Given the description of an element on the screen output the (x, y) to click on. 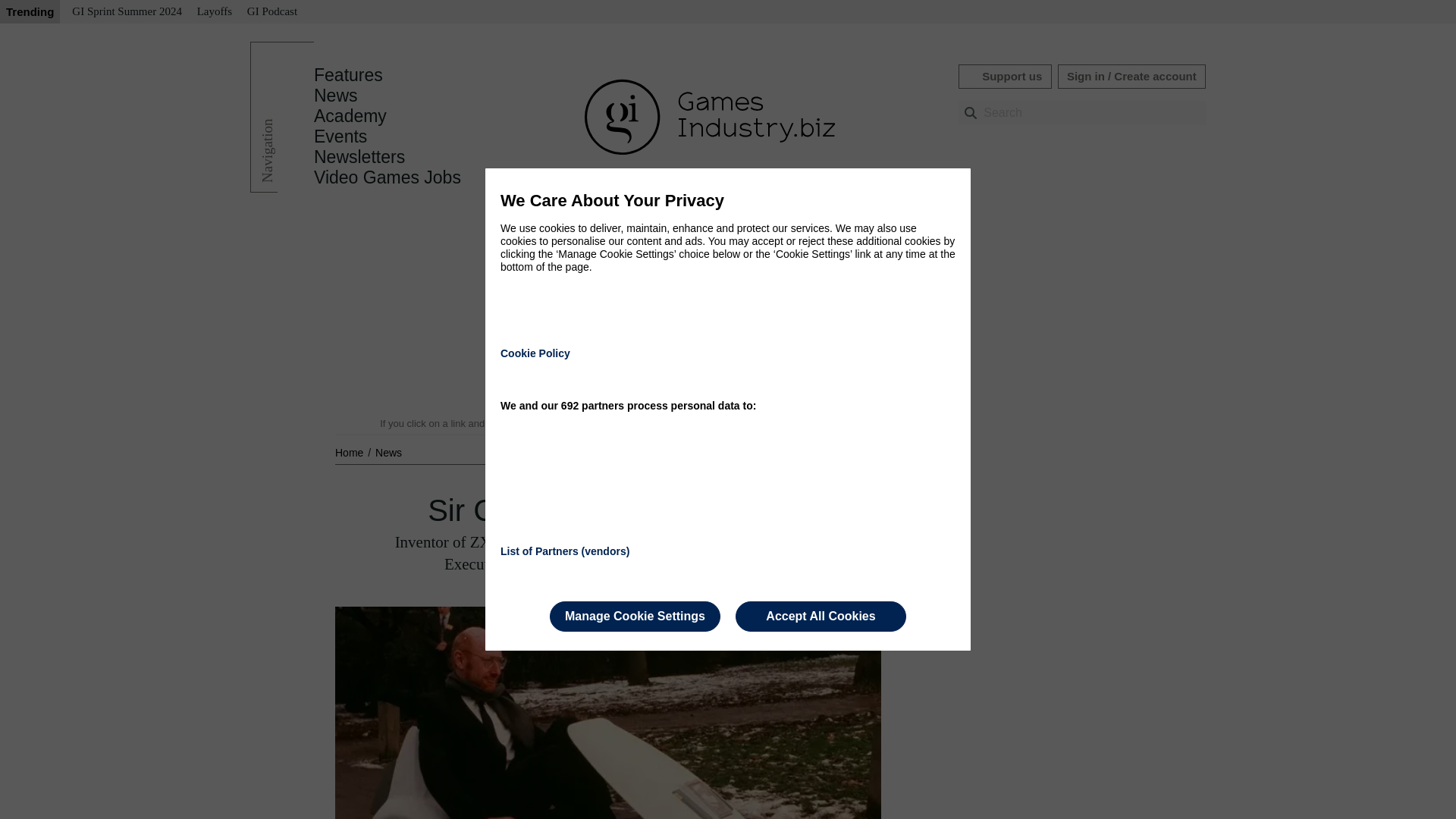
GI Podcast (271, 11)
Newsletters (359, 157)
Events (340, 136)
Home (350, 452)
Layoffs (214, 11)
Features (348, 75)
Academy (350, 116)
GI Sprint Summer 2024 (126, 11)
Read our editorial policy (781, 423)
News (336, 95)
News (388, 452)
Newsletters (359, 157)
Features (348, 75)
Layoffs (214, 11)
Home (350, 452)
